Given the description of an element on the screen output the (x, y) to click on. 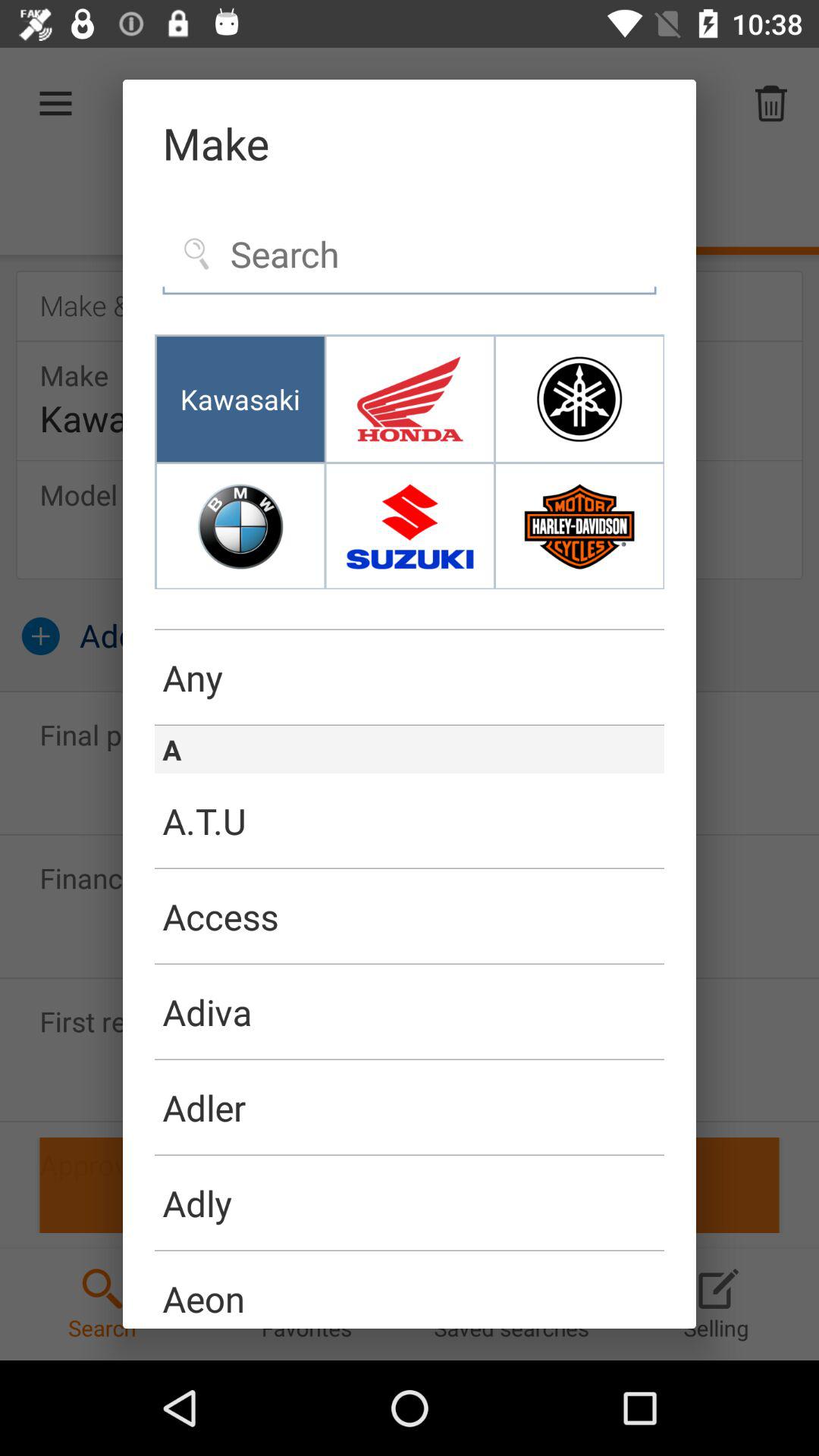
swipe to the adly item (409, 1203)
